Given the description of an element on the screen output the (x, y) to click on. 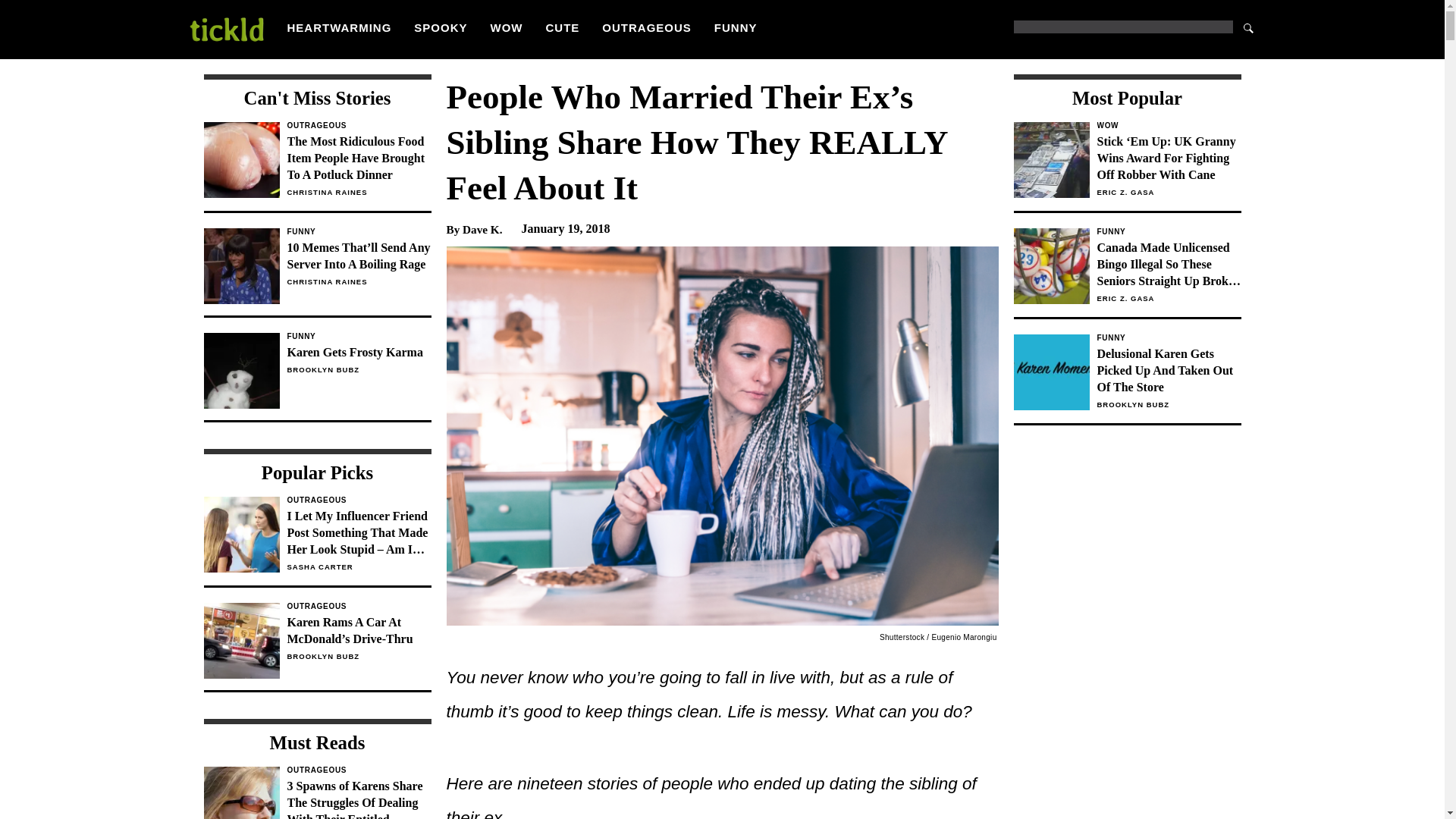
Tickld (225, 29)
Funny (1168, 231)
WOW (1168, 125)
HEARTWARMING (338, 26)
CUTE (562, 26)
Search (1248, 27)
SPOOKY (440, 26)
Search (1248, 27)
OUTRAGEOUS (646, 26)
FUNNY (735, 26)
